Given the description of an element on the screen output the (x, y) to click on. 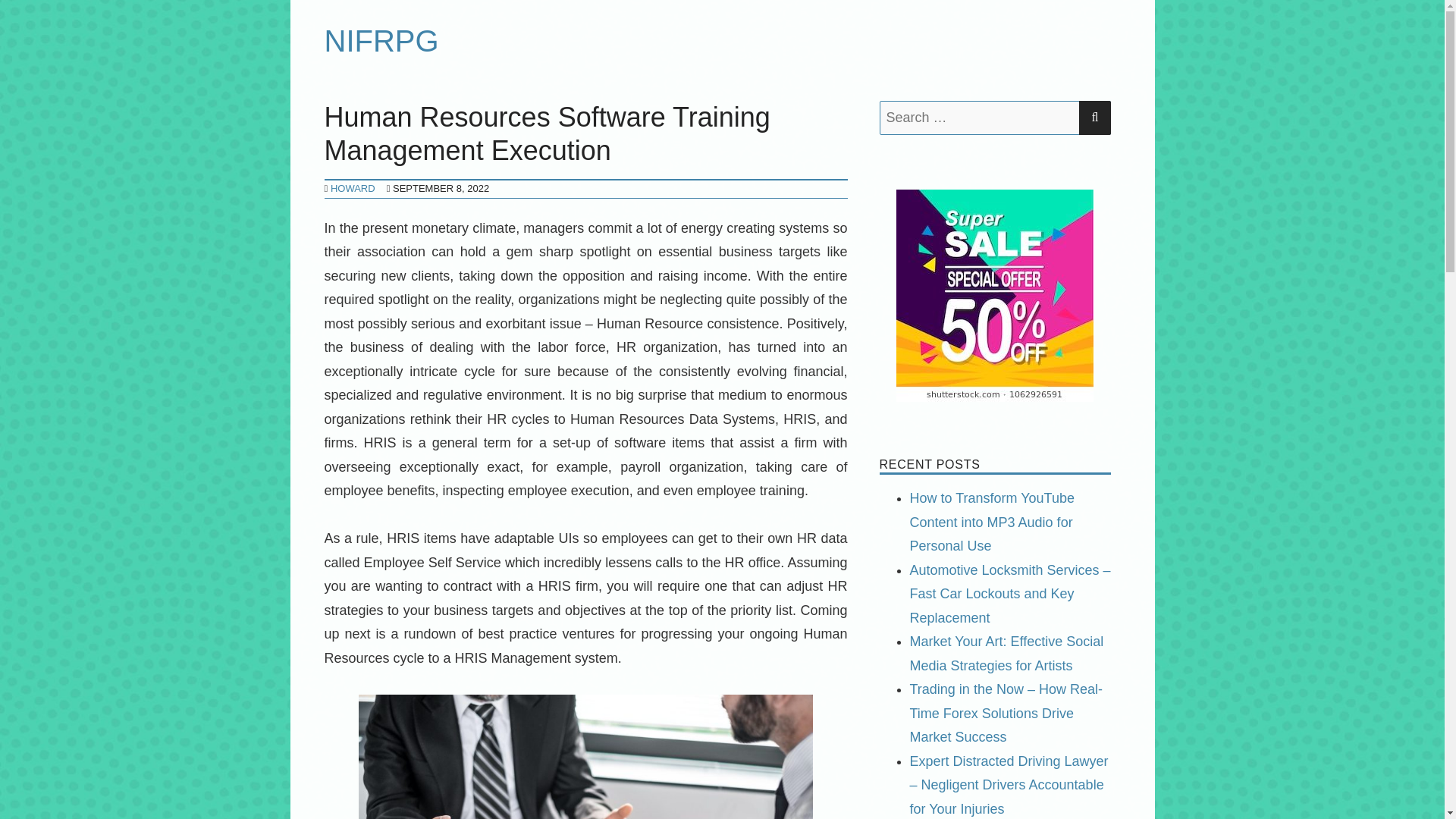
SEARCH (1094, 117)
NIFRPG (381, 40)
HOWARD (352, 188)
